Given the description of an element on the screen output the (x, y) to click on. 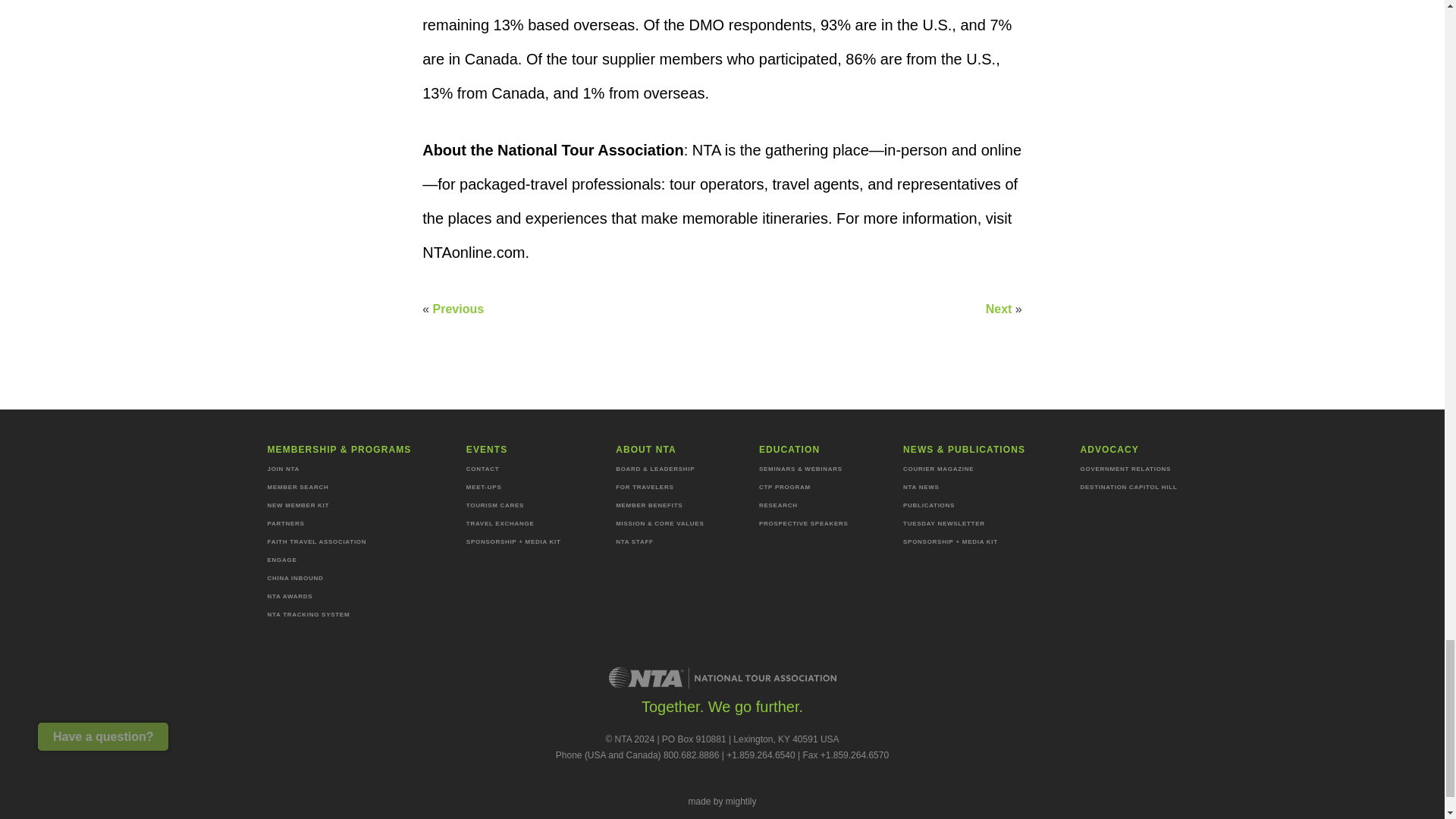
National Tour Association (721, 677)
